Given the description of an element on the screen output the (x, y) to click on. 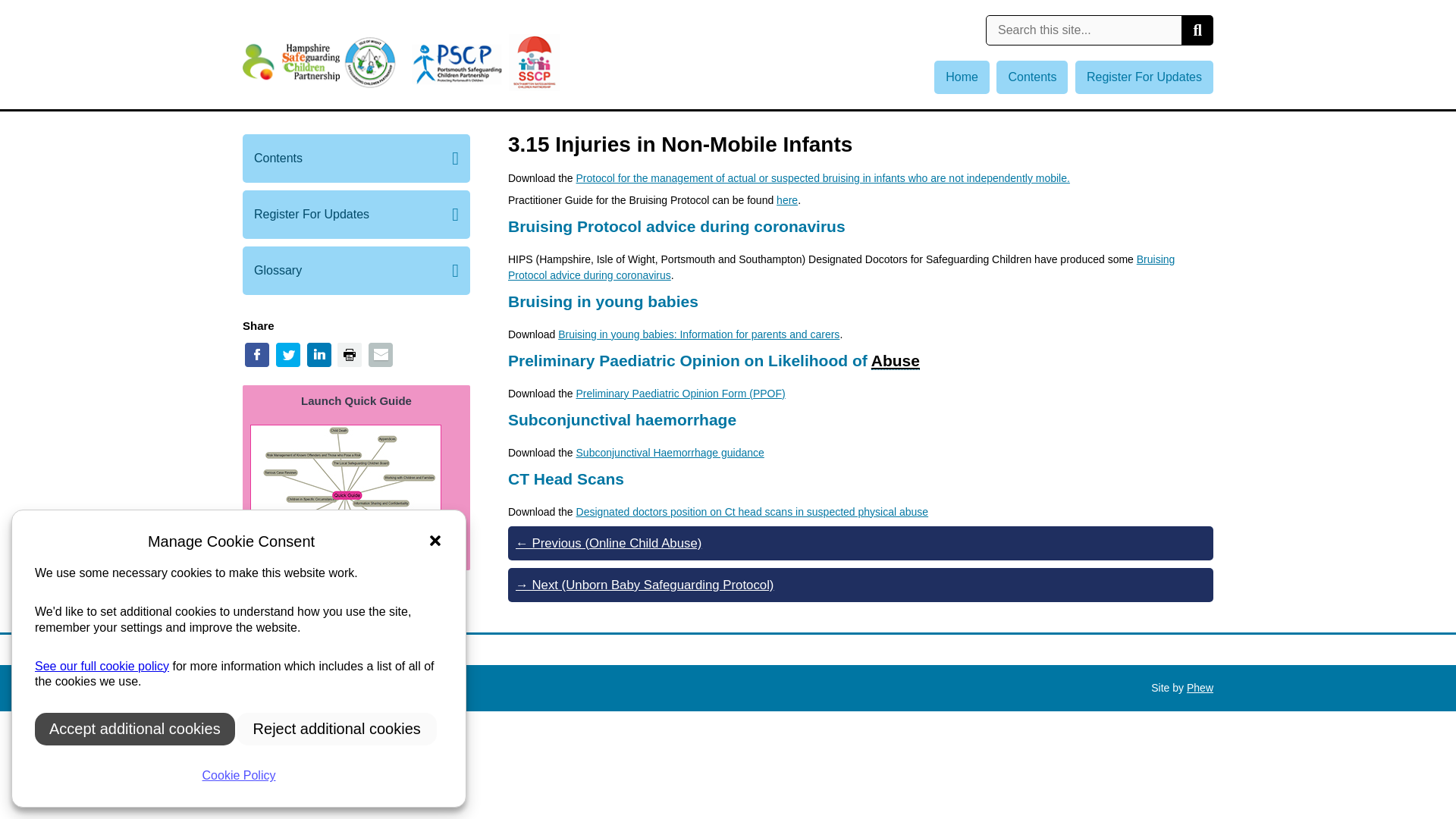
Bruising Protocol advice during coronavirus 10 Jan 22 (841, 267)
Contents (356, 158)
Cookie Policy (101, 666)
Launch Quick Guide (356, 400)
HIPS SCJH guidance July 2022 (670, 452)
Bruising Protocol advice during coronavirus (841, 267)
Terms of use (353, 687)
Subconjunctival Haemorrhage guidance (670, 452)
Abuse (895, 361)
Glossary (356, 270)
Register For Updates (1143, 77)
Bruising in young babies: Information for parents and carers (698, 334)
